Given the description of an element on the screen output the (x, y) to click on. 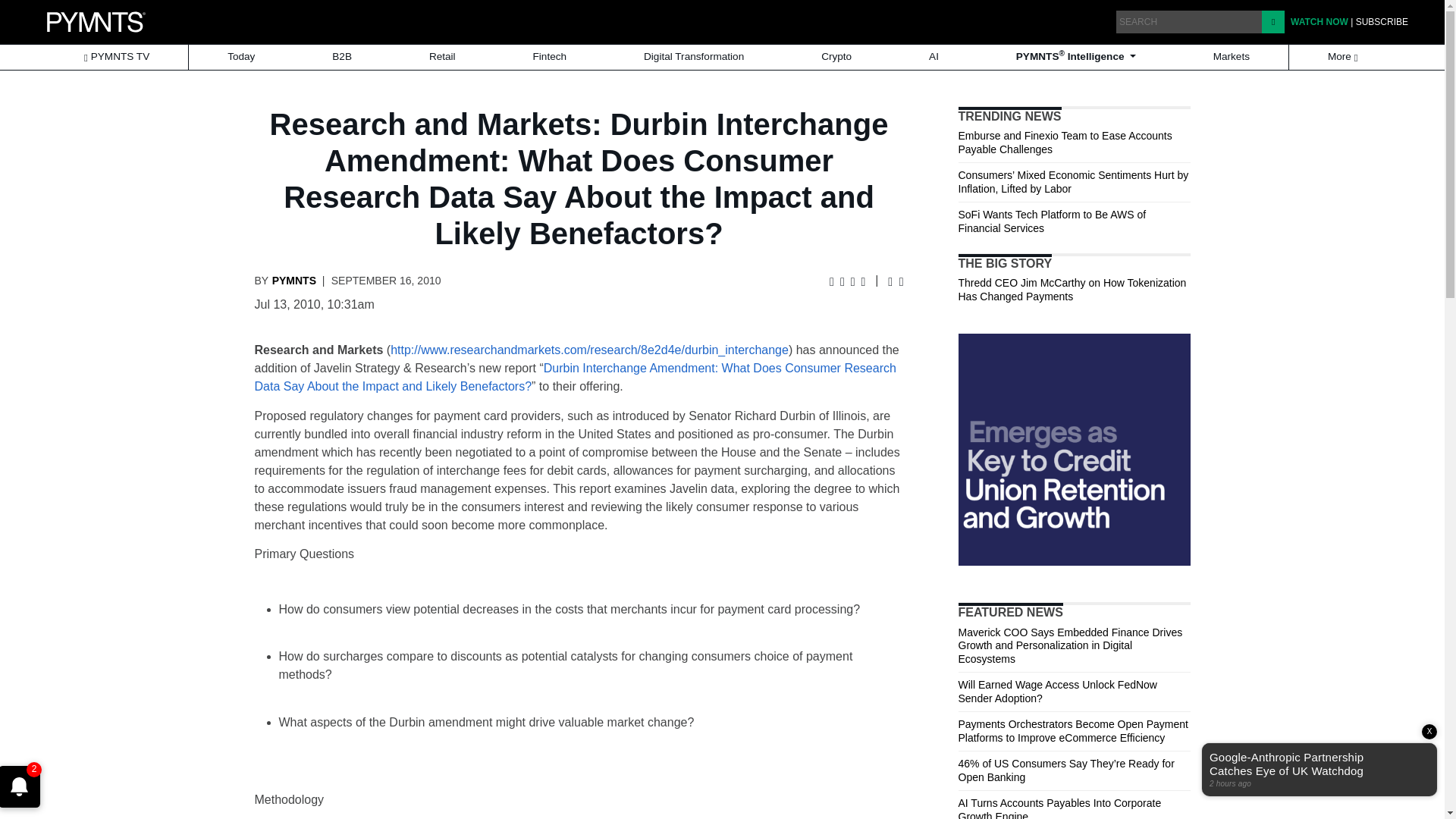
More  (1343, 57)
Fintech (550, 57)
Posts by PYMNTS (293, 280)
WATCH NOW (1319, 21)
AI (932, 57)
Retail (442, 57)
Today (241, 57)
SUBSCRIBE (1381, 21)
 PYMNTS TV (116, 57)
Markets (1231, 57)
Crypto (836, 57)
B2B (342, 57)
Digital Transformation (694, 57)
